Given the description of an element on the screen output the (x, y) to click on. 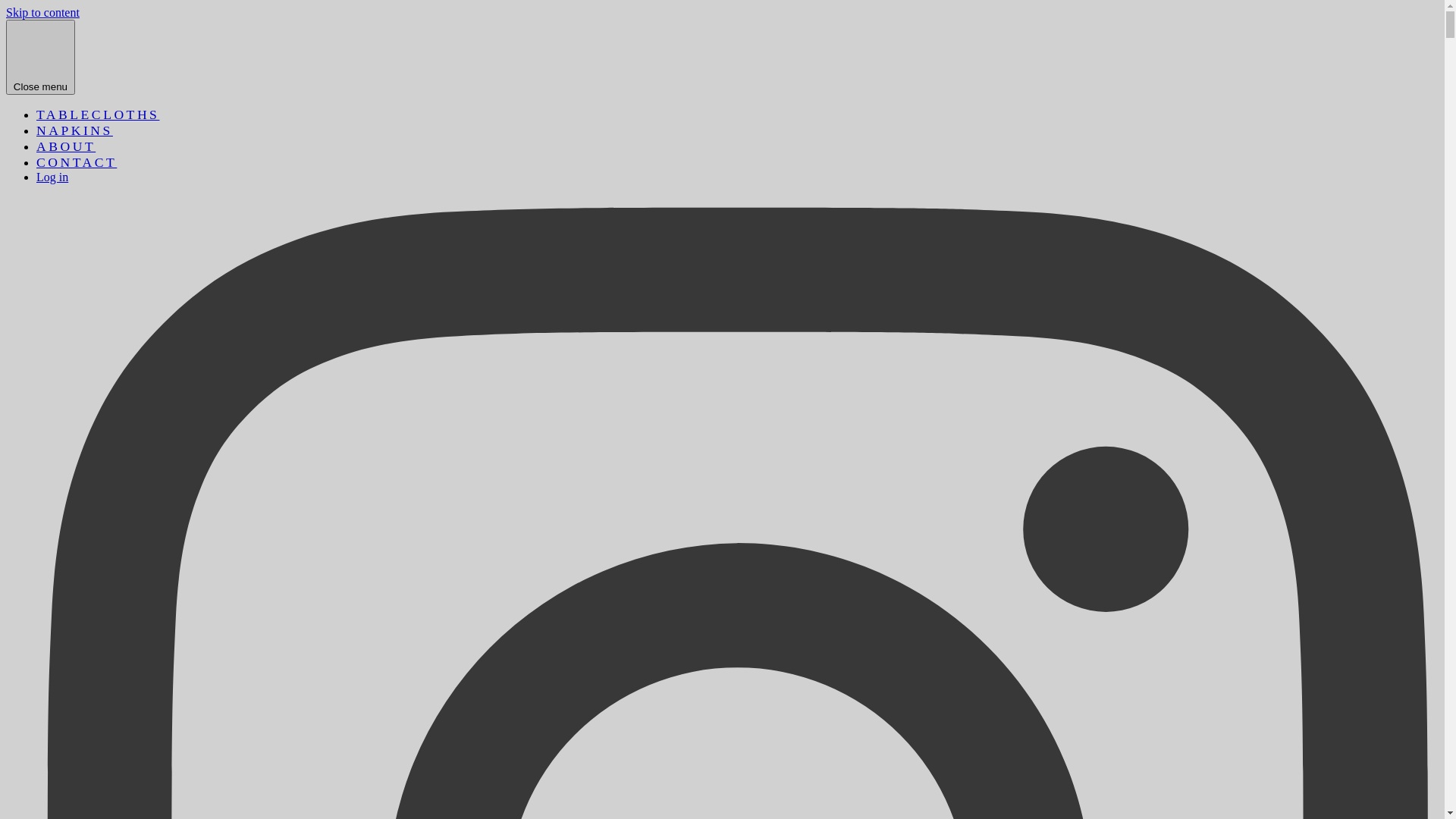
icon-X Close menu Element type: text (40, 56)
TABLECLOTHS Element type: text (97, 114)
CONTACT Element type: text (76, 161)
ABOUT Element type: text (65, 145)
NAPKINS Element type: text (74, 130)
Skip to content Element type: text (42, 12)
Log in Element type: text (52, 176)
